Given the description of an element on the screen output the (x, y) to click on. 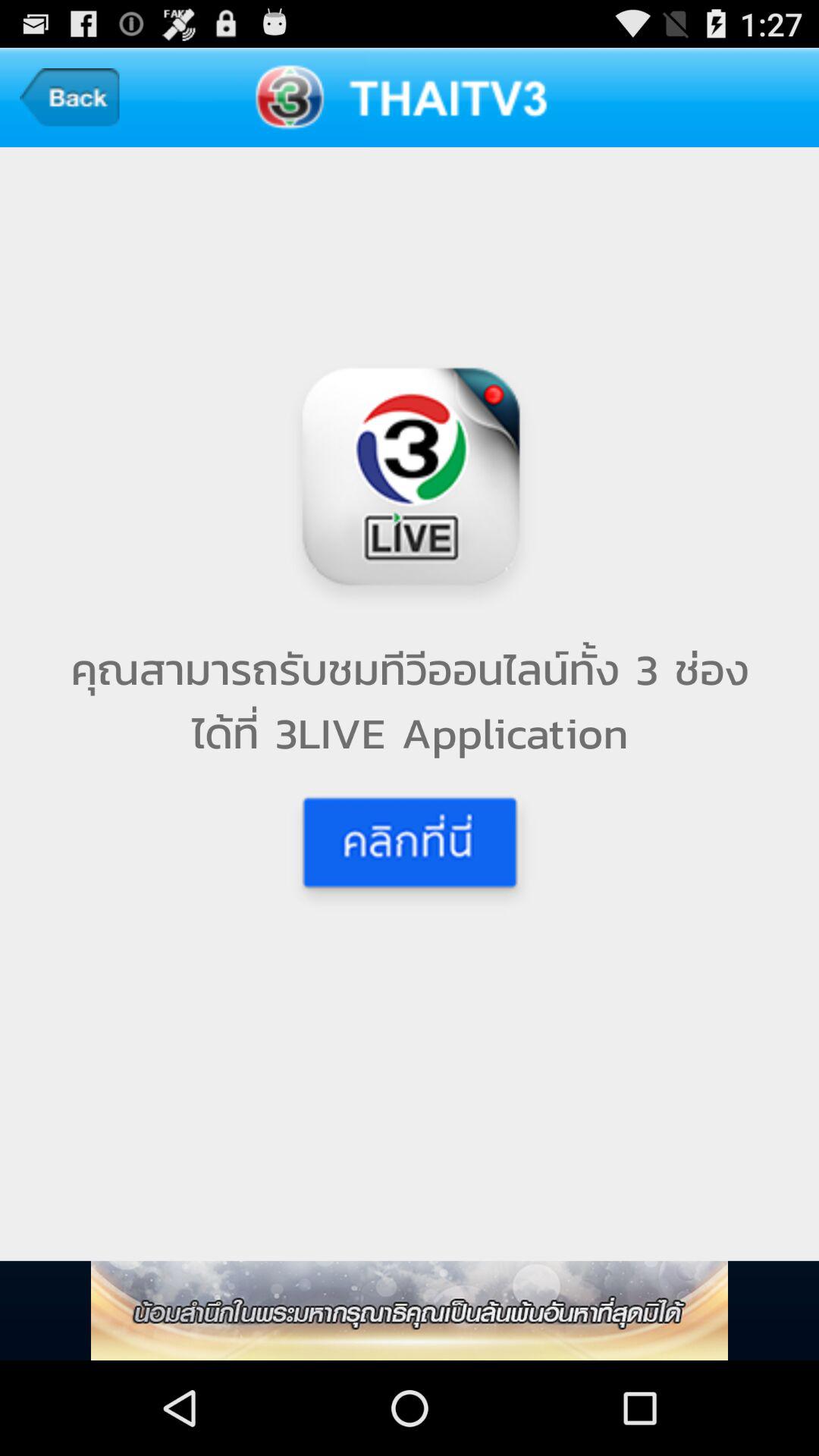
know about the advertisement (409, 1310)
